Given the description of an element on the screen output the (x, y) to click on. 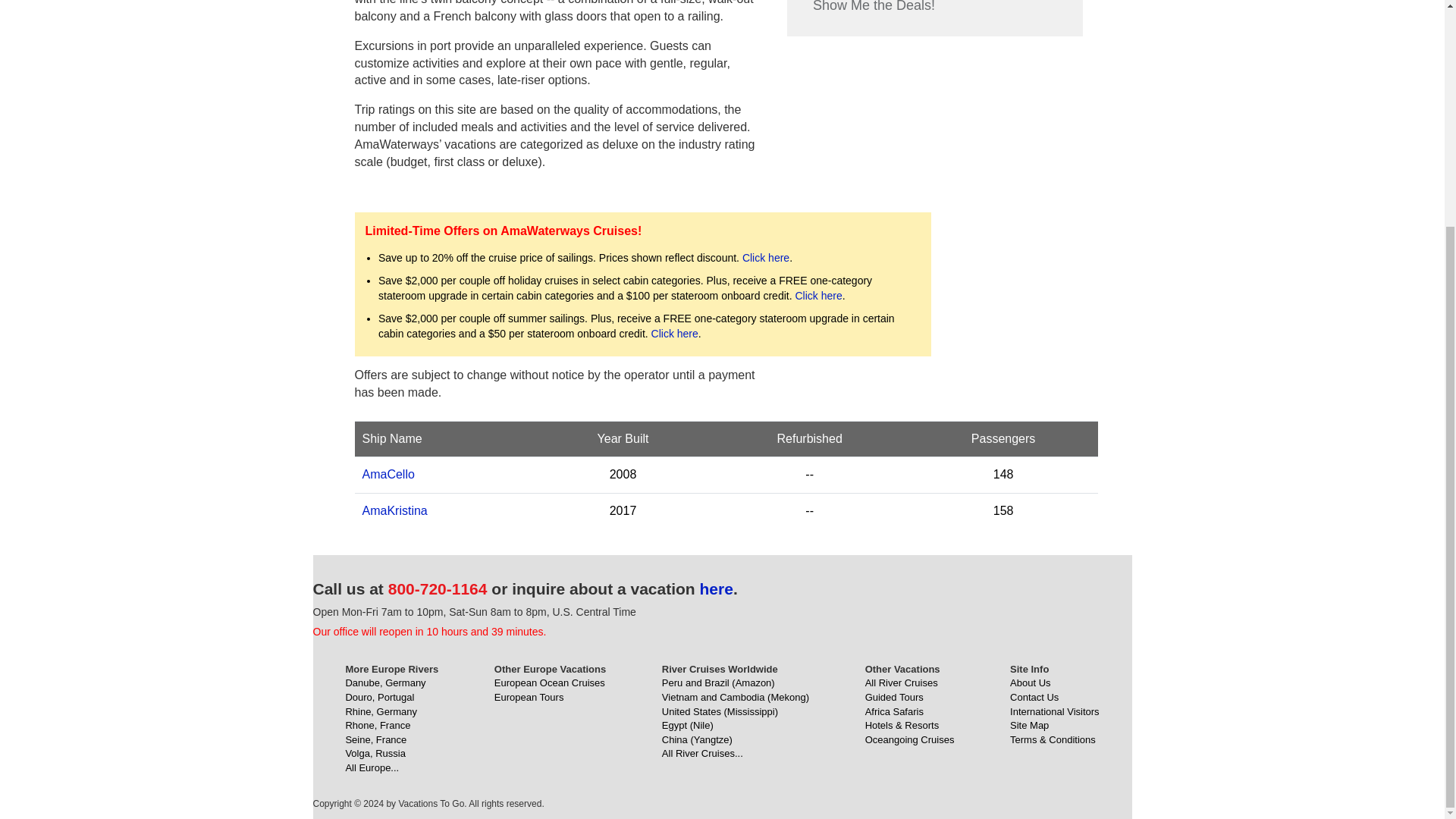
AmaCello (388, 473)
Click here (674, 333)
Danube, Germany (385, 682)
Click here (765, 257)
Click here (817, 295)
here (716, 588)
Show Me the Deals! (873, 10)
Show Me the Deals! (873, 10)
AmaKristina (395, 510)
Douro, Portugal (379, 696)
